Given the description of an element on the screen output the (x, y) to click on. 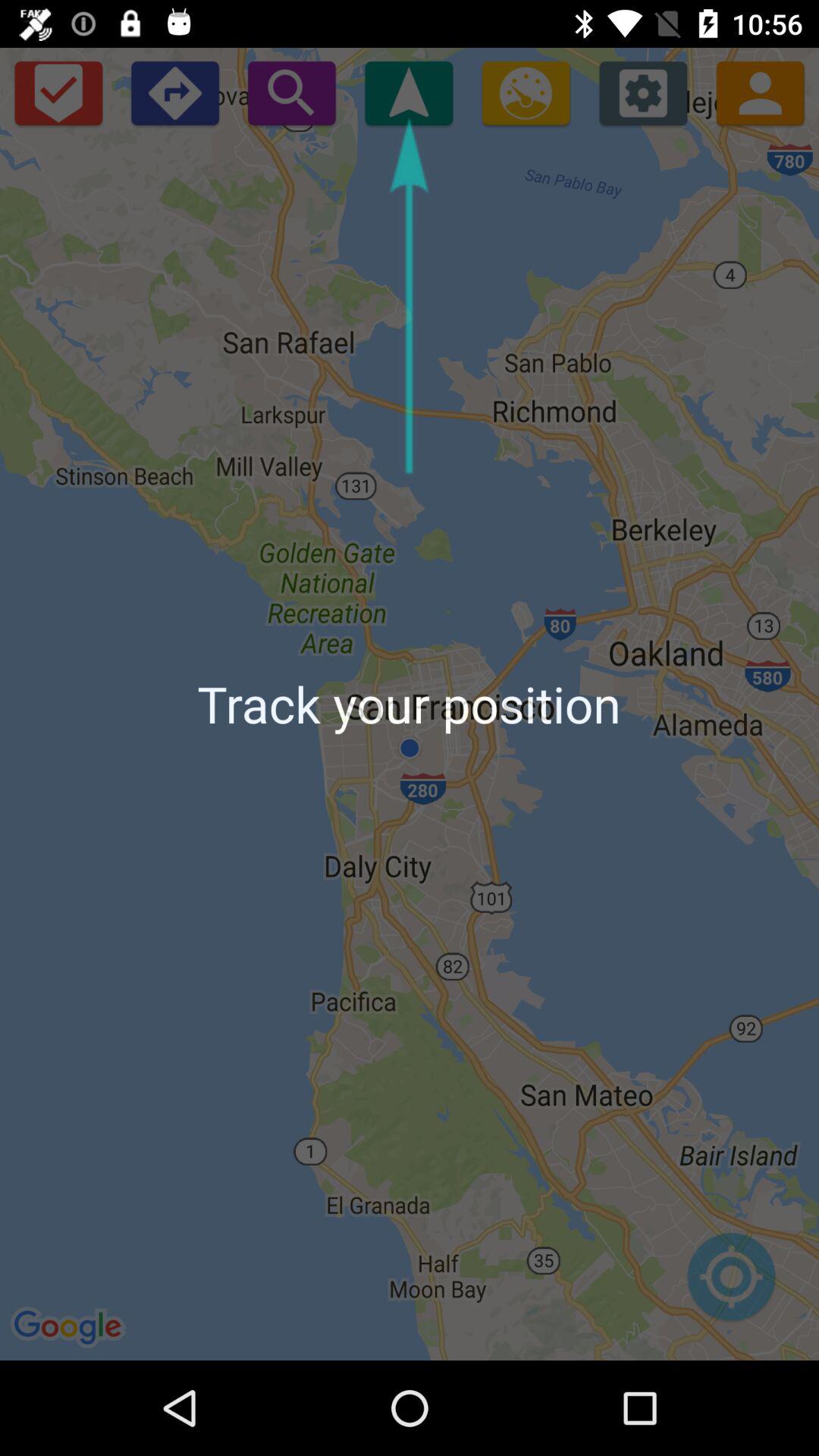
contact selection (760, 92)
